Given the description of an element on the screen output the (x, y) to click on. 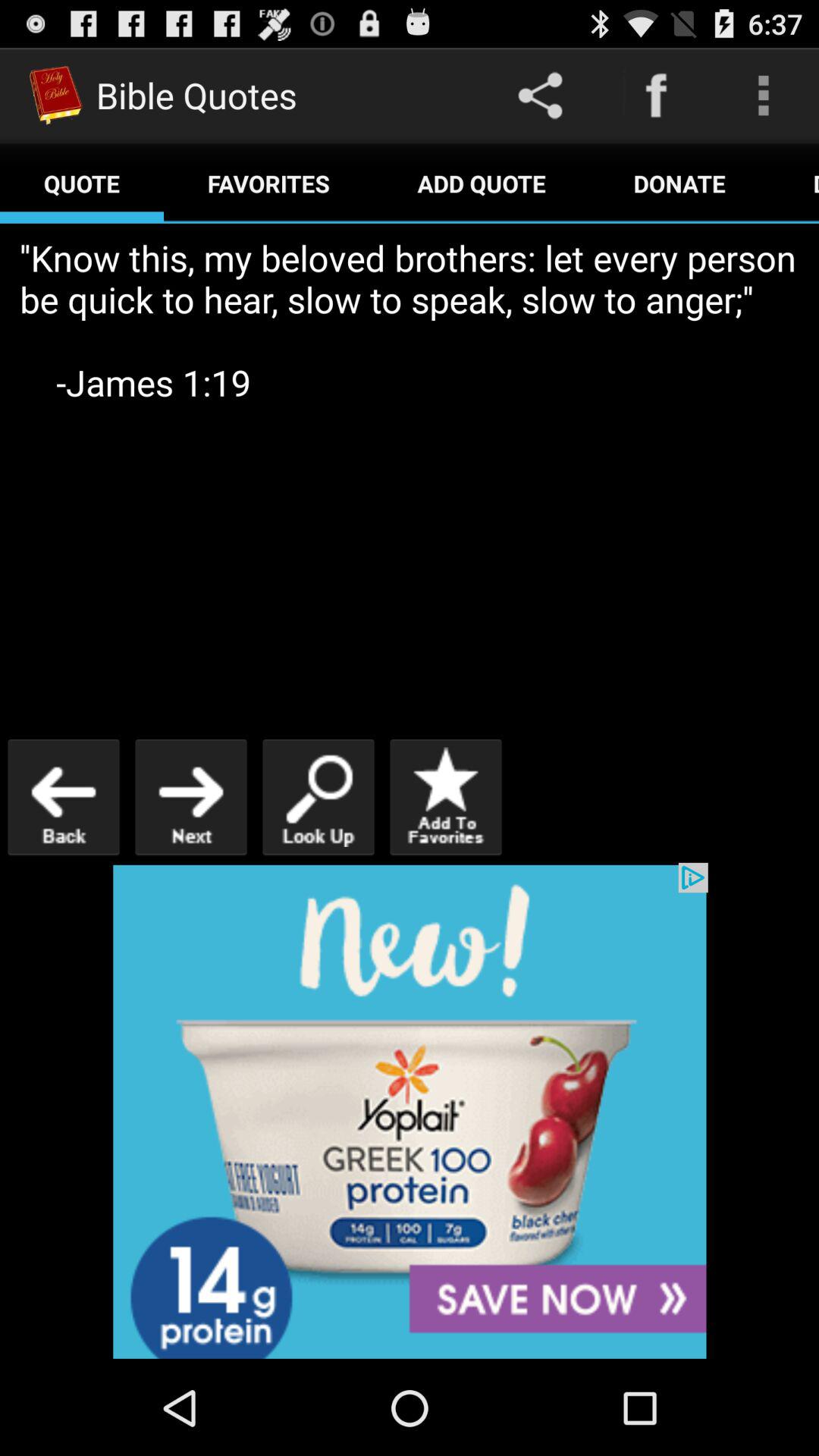
add to favorites (445, 796)
